Given the description of an element on the screen output the (x, y) to click on. 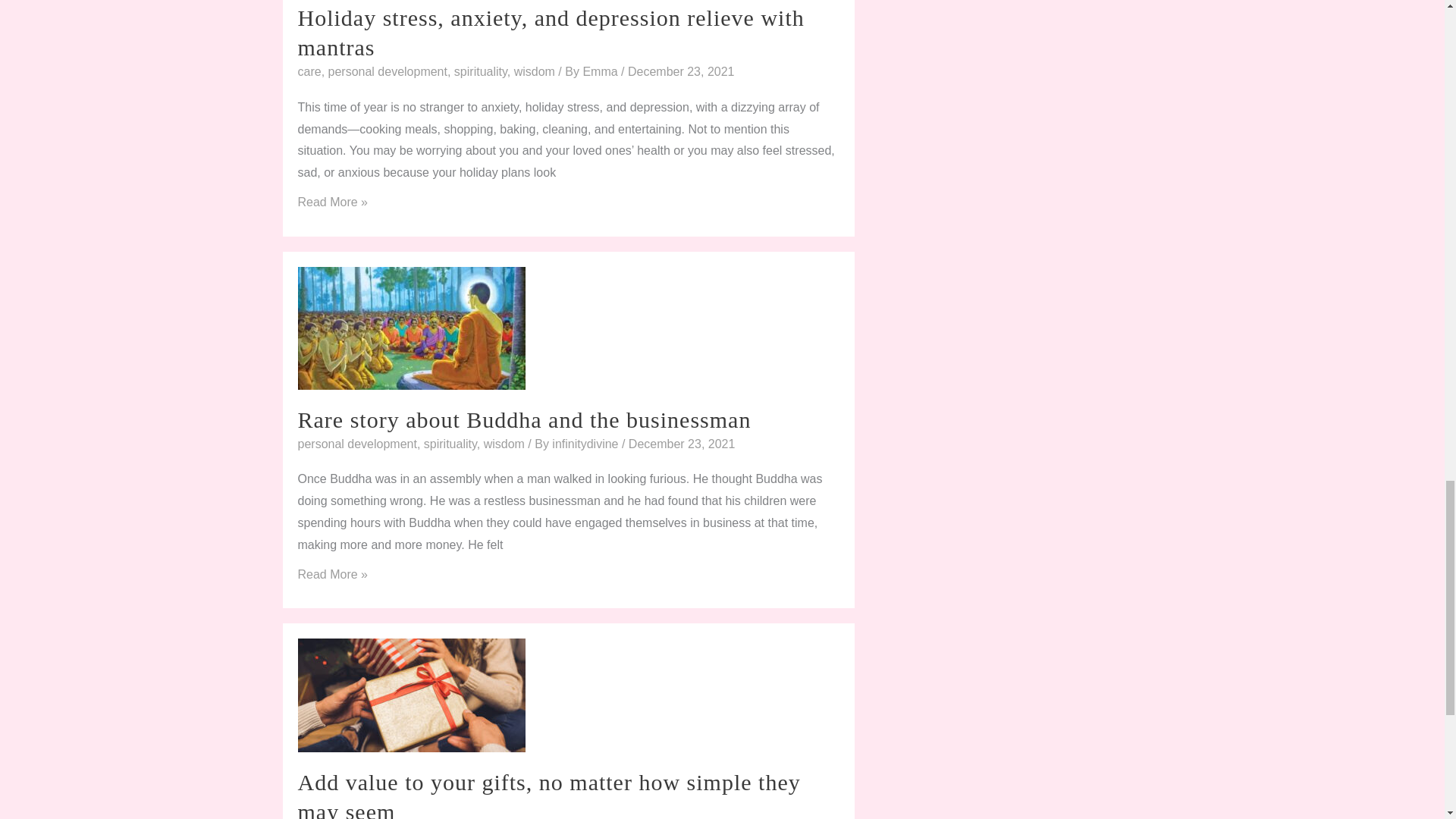
View all posts by Emma (601, 71)
View all posts by infinitydivine (586, 443)
